Given the description of an element on the screen output the (x, y) to click on. 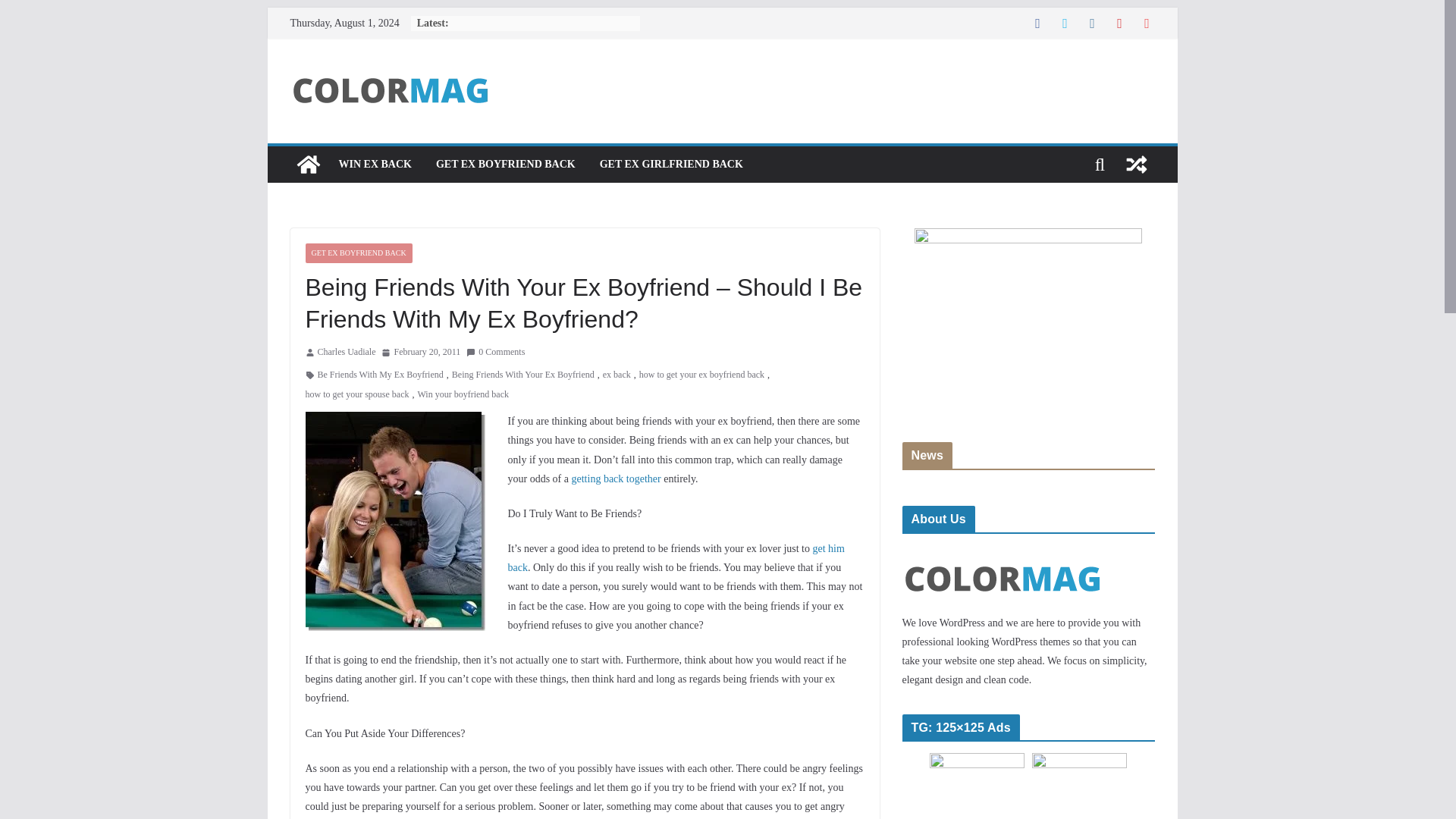
WIN EX BACK (373, 164)
9:59 pm (420, 352)
getting back together (616, 478)
Be Friends With My Ex Boyfriend (379, 375)
Being Friends With Your Ex Boyfriend (522, 375)
get him back (676, 557)
February 20, 2011 (420, 352)
GET EX GIRLFRIEND BACK (670, 164)
how to get your spouse back (356, 394)
Charles Uadiale (346, 352)
GET EX BOYFRIEND BACK (358, 252)
ex back (616, 375)
Charles Uadiale (346, 352)
0 Comments (494, 352)
